Given the description of an element on the screen output the (x, y) to click on. 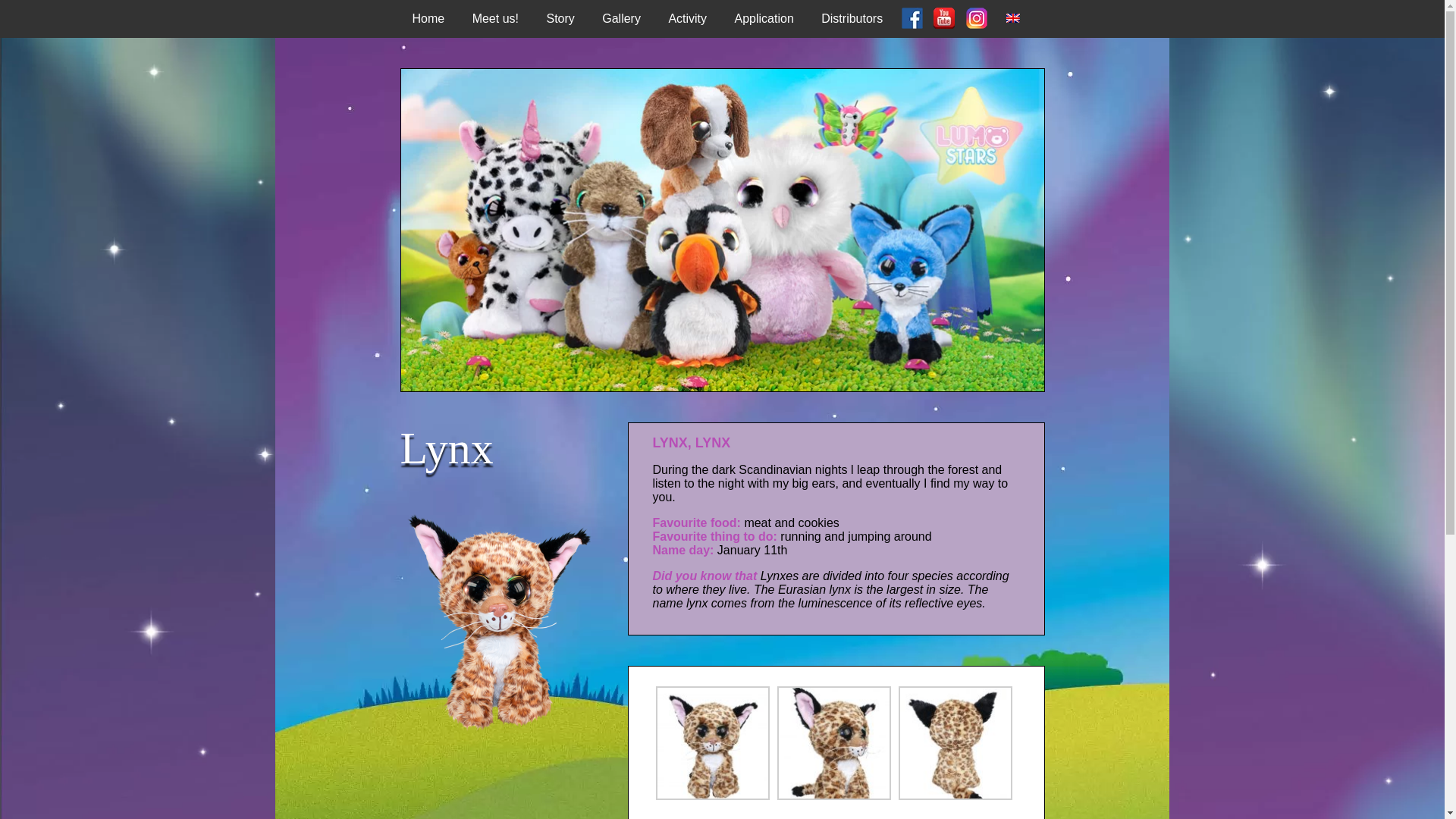
Meet us! (495, 18)
Home (428, 18)
Distributors (852, 18)
Application (764, 18)
Story (560, 18)
Activity (687, 18)
Gallery (620, 18)
